Given the description of an element on the screen output the (x, y) to click on. 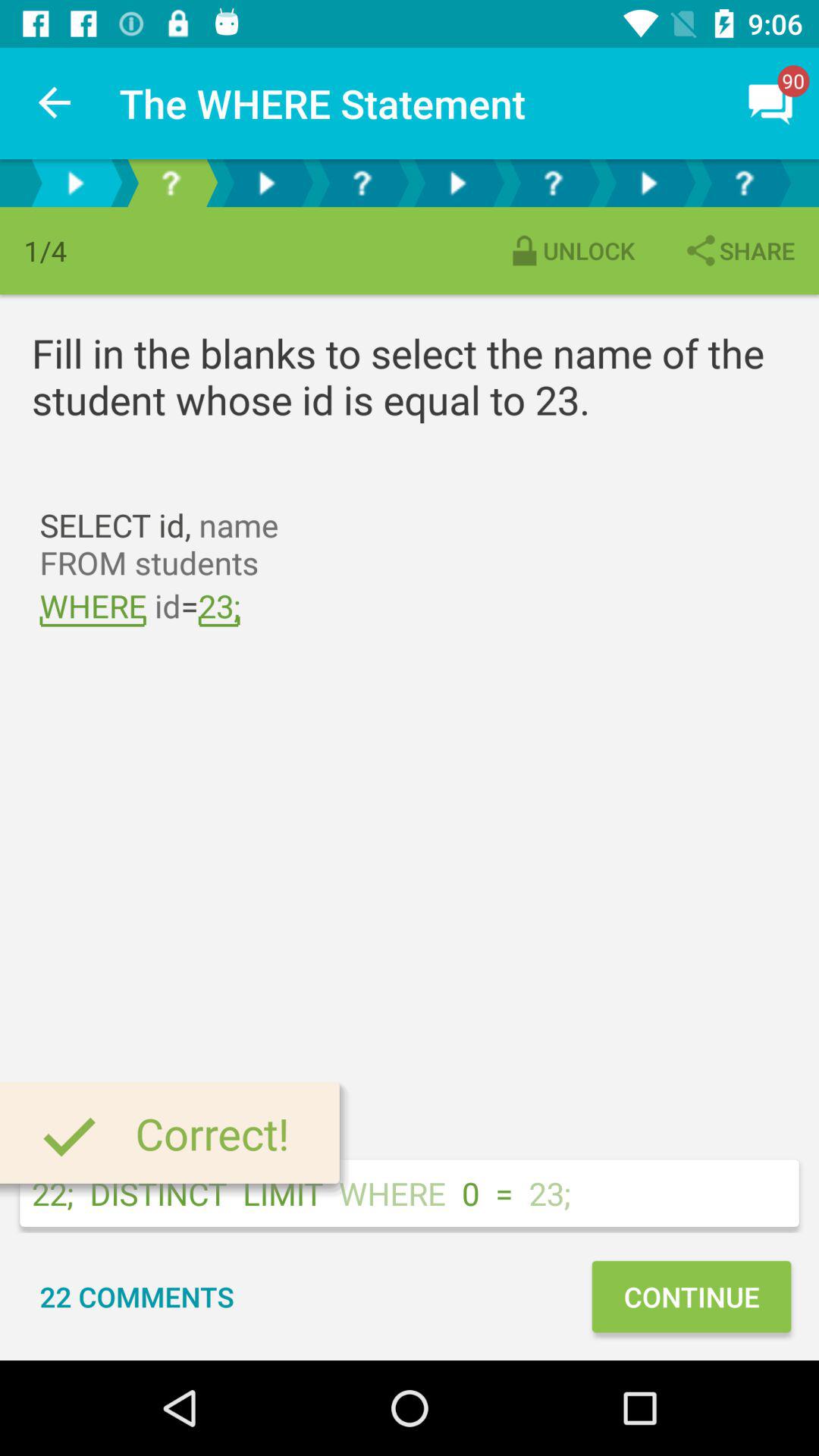
next page (457, 183)
